Given the description of an element on the screen output the (x, y) to click on. 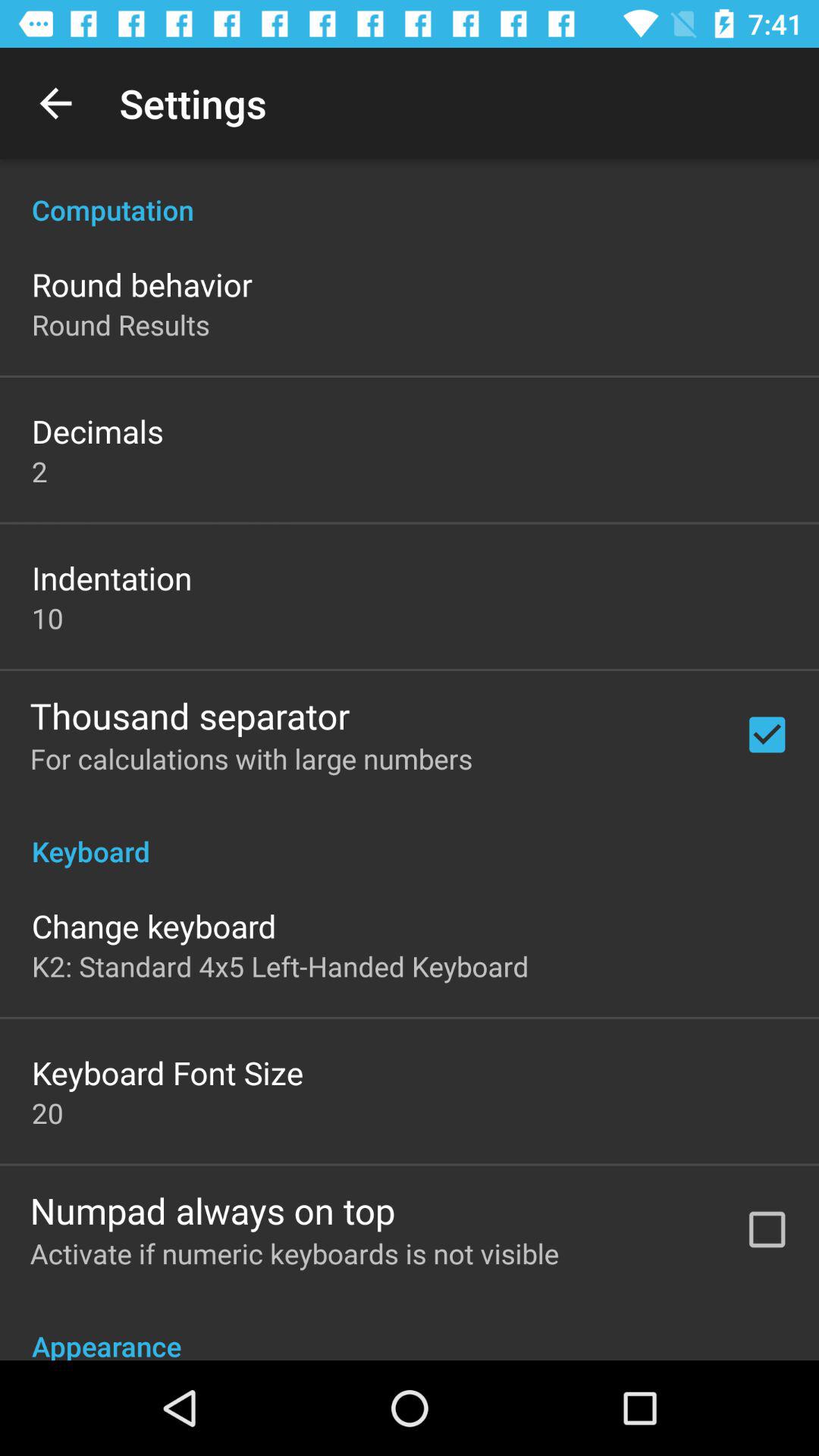
select the app below the thousand separator item (251, 758)
